Given the description of an element on the screen output the (x, y) to click on. 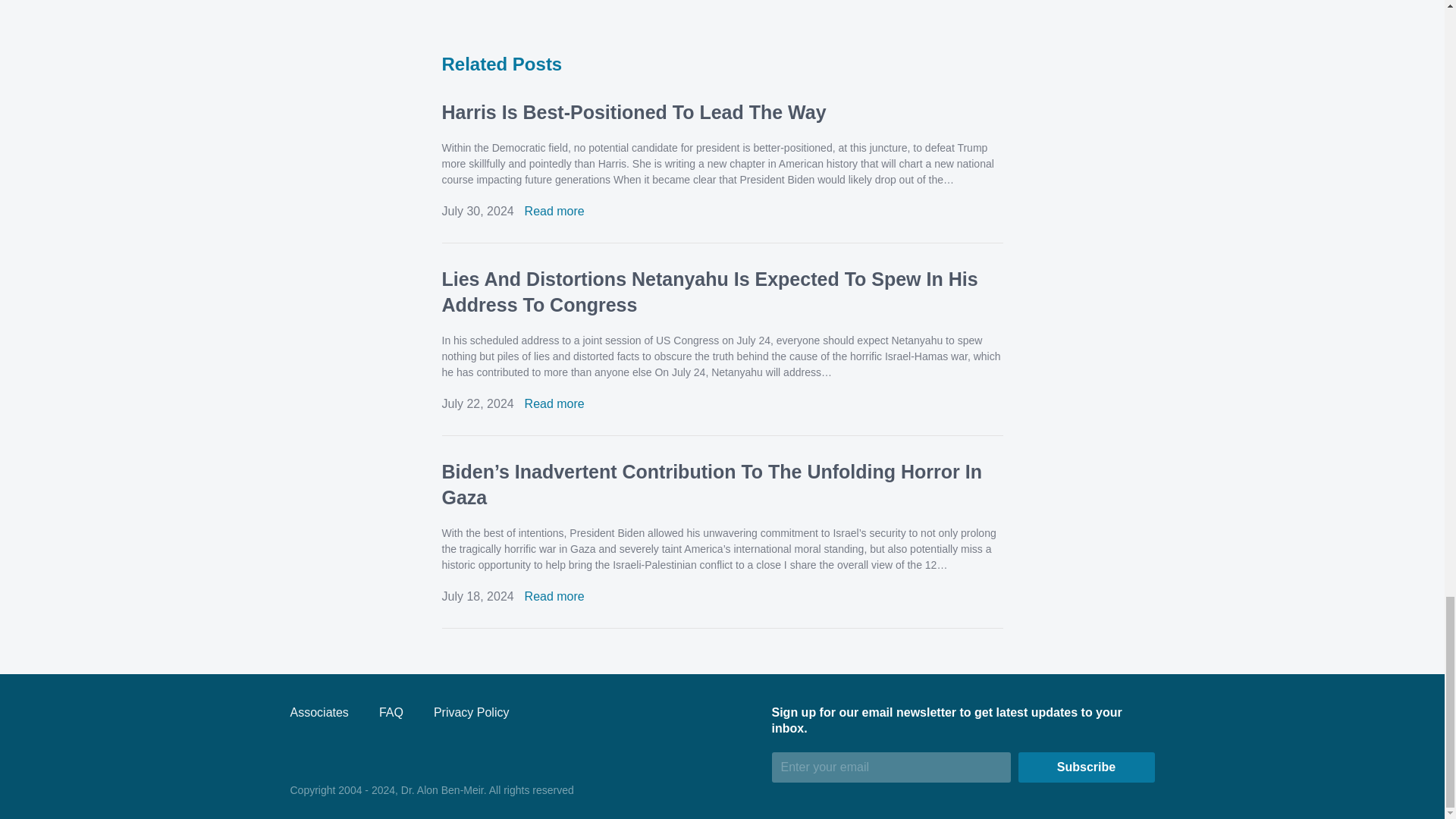
Read more (554, 211)
Associates (318, 712)
Read more (554, 403)
Harris Is Best-Positioned To Lead The Way (633, 111)
Read more (554, 596)
Subscribe (1085, 767)
Privacy Policy (471, 712)
FAQ (390, 712)
